Given the description of an element on the screen output the (x, y) to click on. 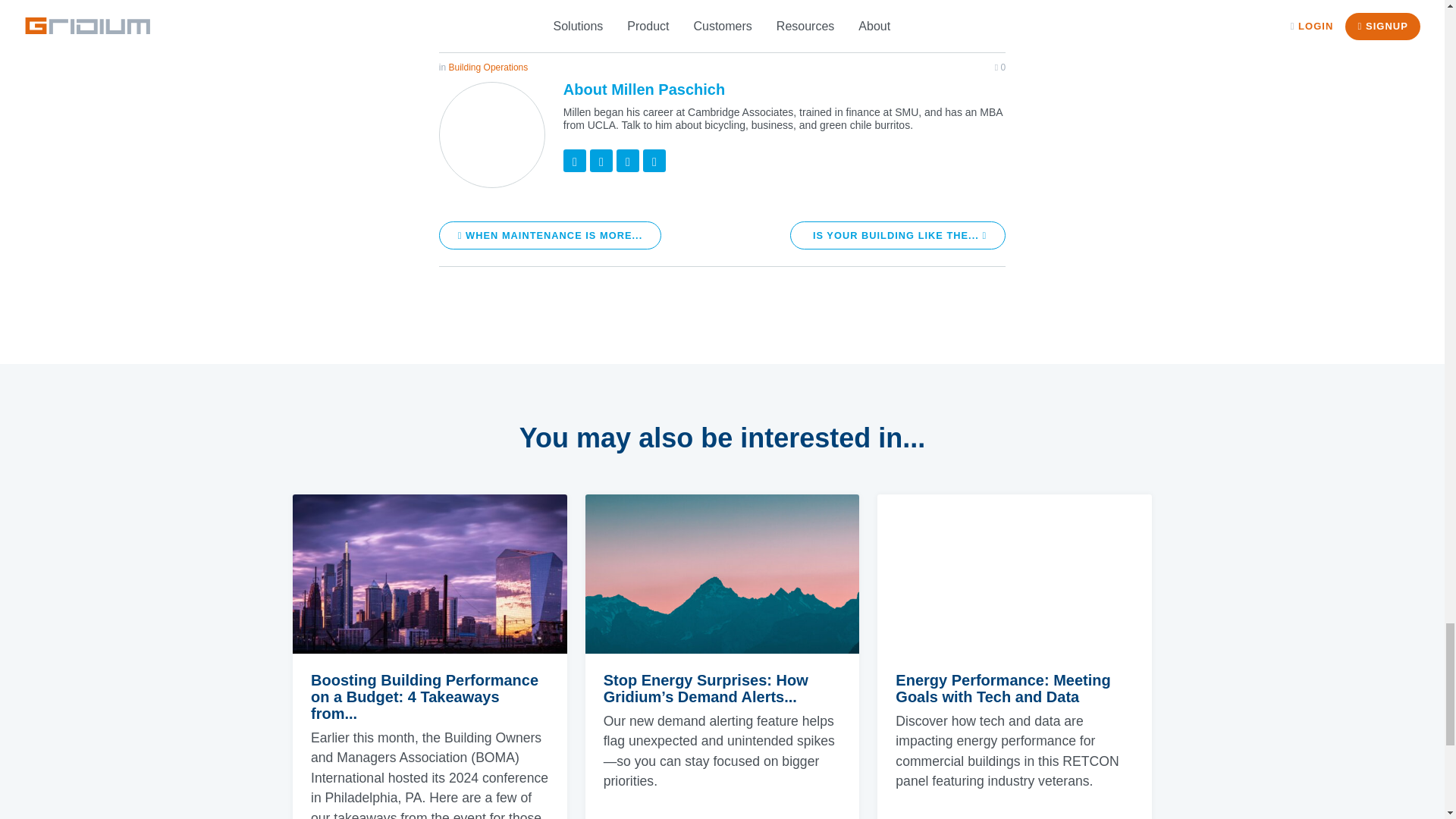
About Millen Paschich (644, 89)
Building Operations (488, 67)
0 (1000, 67)
